Given the description of an element on the screen output the (x, y) to click on. 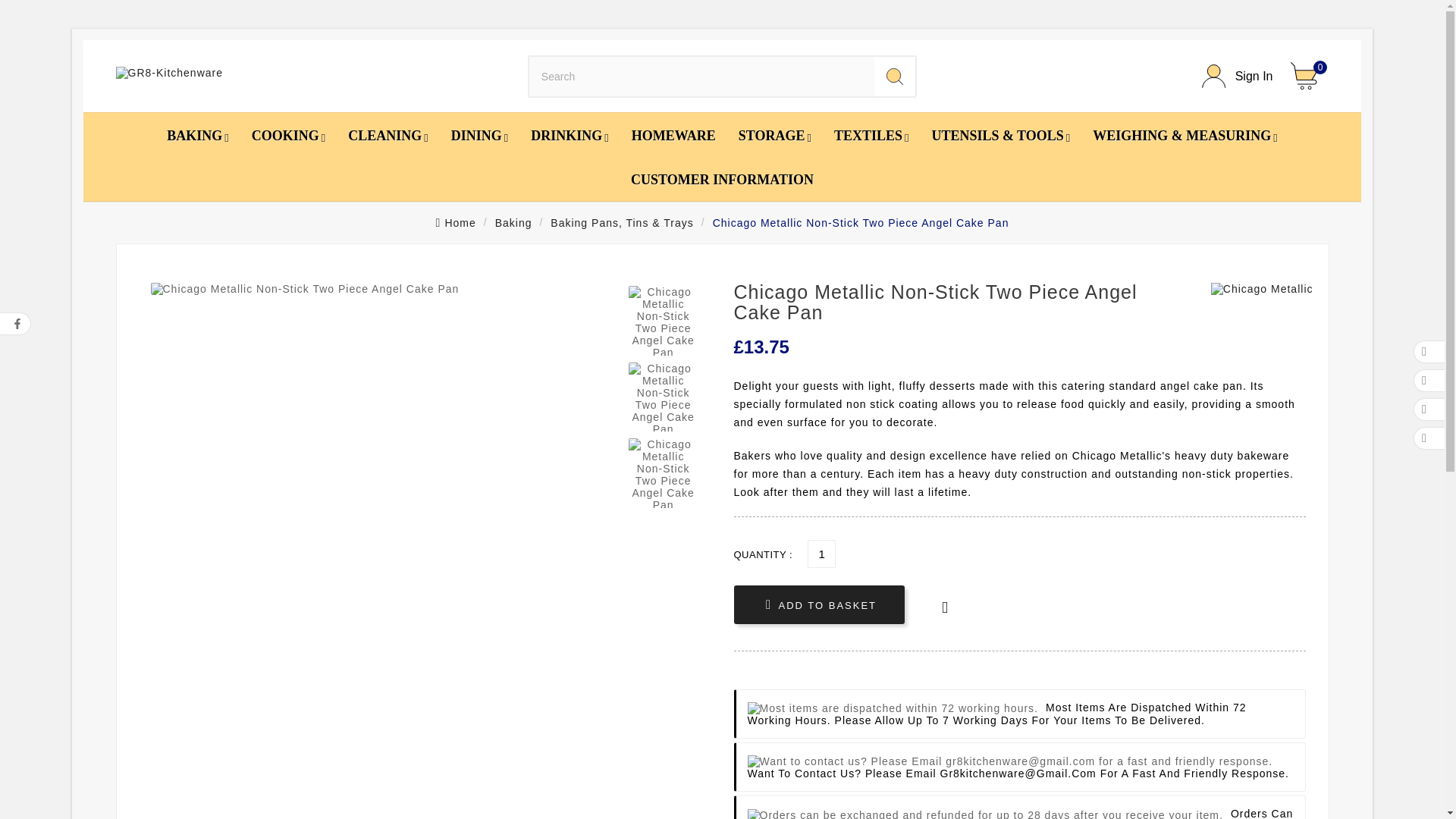
Chicago Metallic Non-Stick Two Piece Angel Cake Pan (662, 472)
HOMEWARE (673, 135)
Baking (513, 222)
COOKING (288, 135)
BAKING (197, 135)
Chicago Metallic Non-Stick Two Piece Angel Cake Pan (662, 396)
Basket (1308, 75)
Sign In (1237, 75)
0 (1308, 75)
Chicago Metallic Non-Stick Two Piece Angel Cake Pan (662, 320)
